Given the description of an element on the screen output the (x, y) to click on. 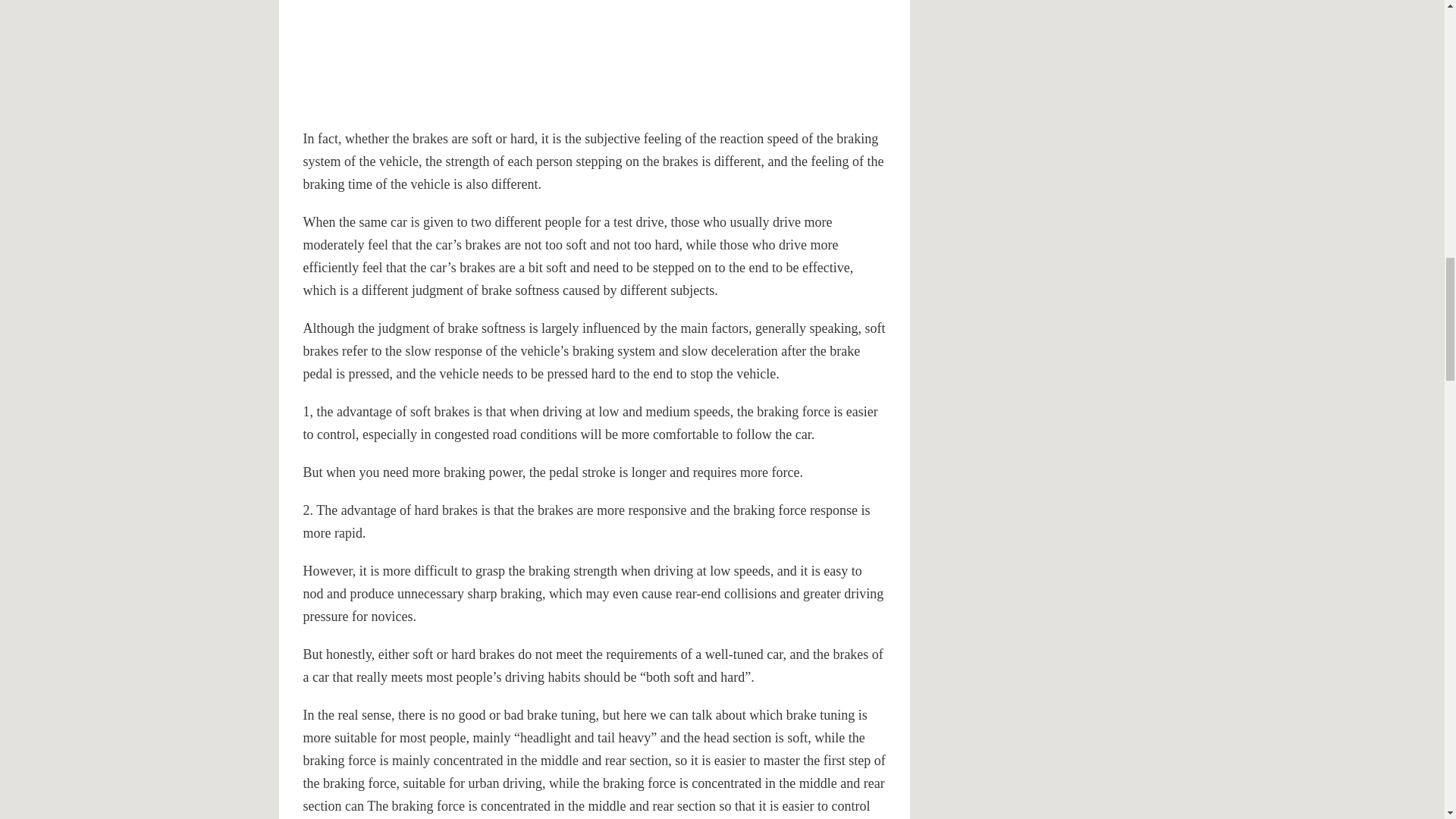
YouTube video player (515, 60)
